Given the description of an element on the screen output the (x, y) to click on. 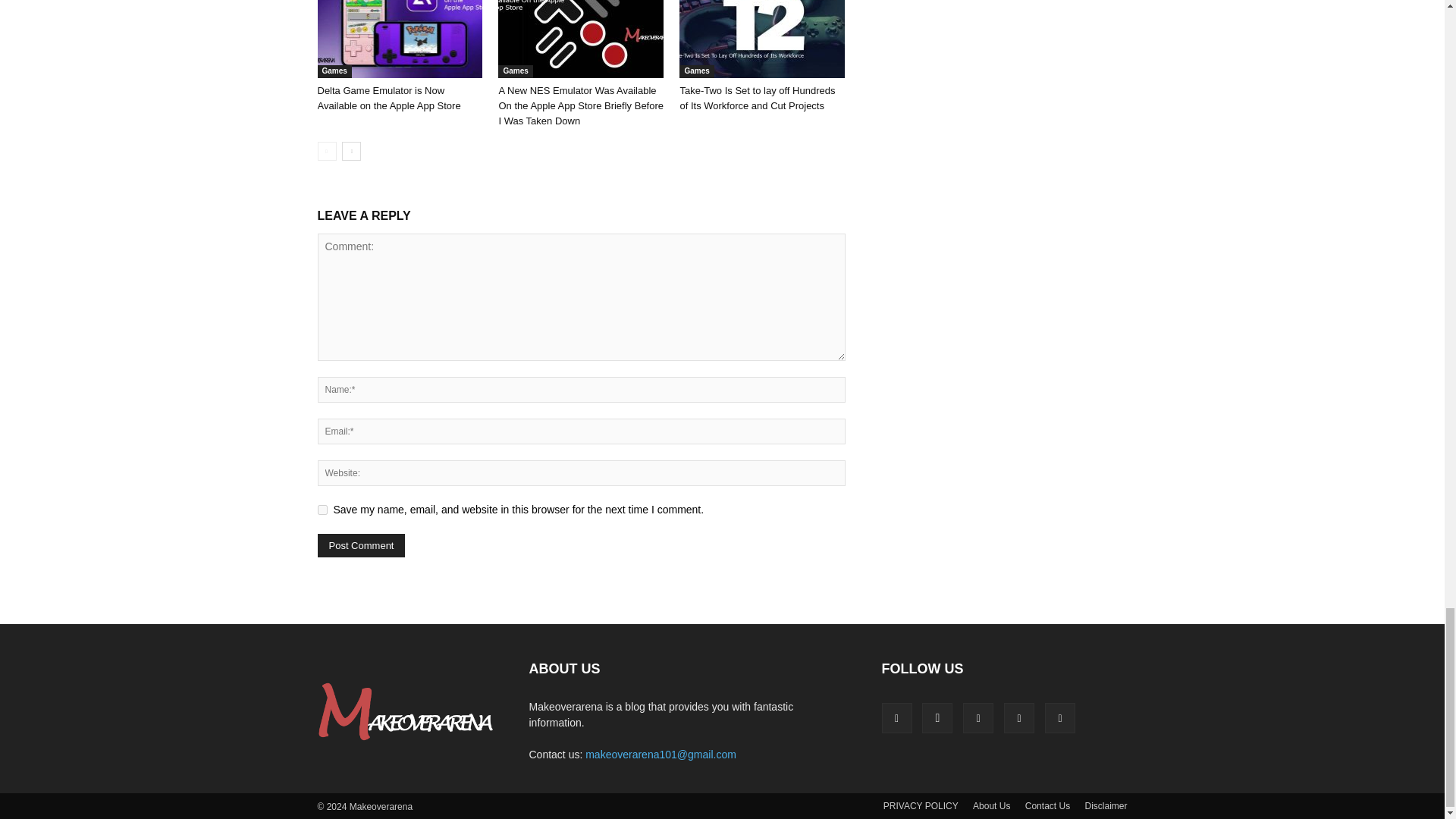
Post Comment (360, 545)
yes (321, 510)
